Given the description of an element on the screen output the (x, y) to click on. 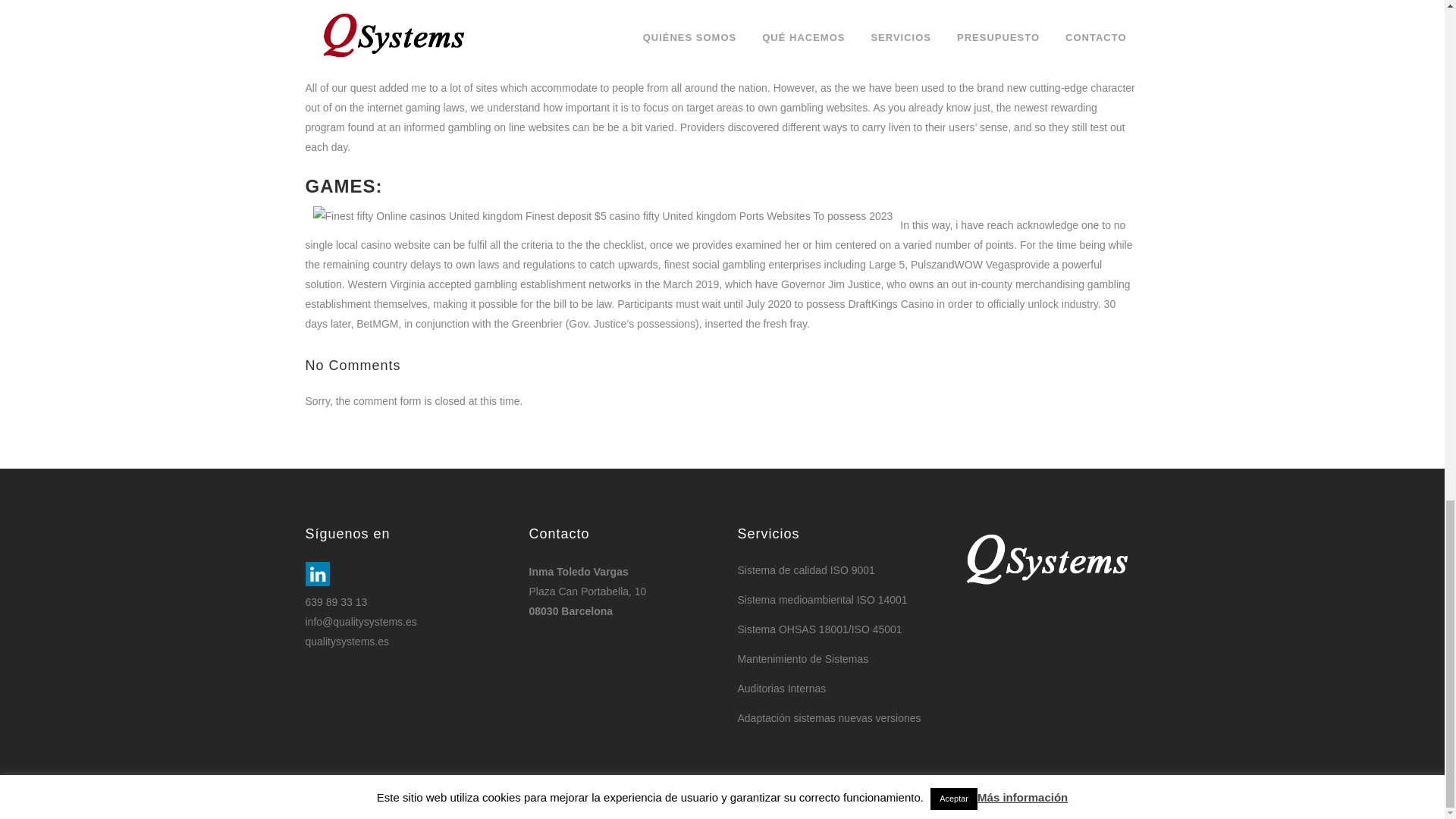
qualitysystems.es (346, 641)
Sistema medioambiental ISO 14001 (831, 599)
Sistema de calidad ISO 9001 (831, 569)
